Given the description of an element on the screen output the (x, y) to click on. 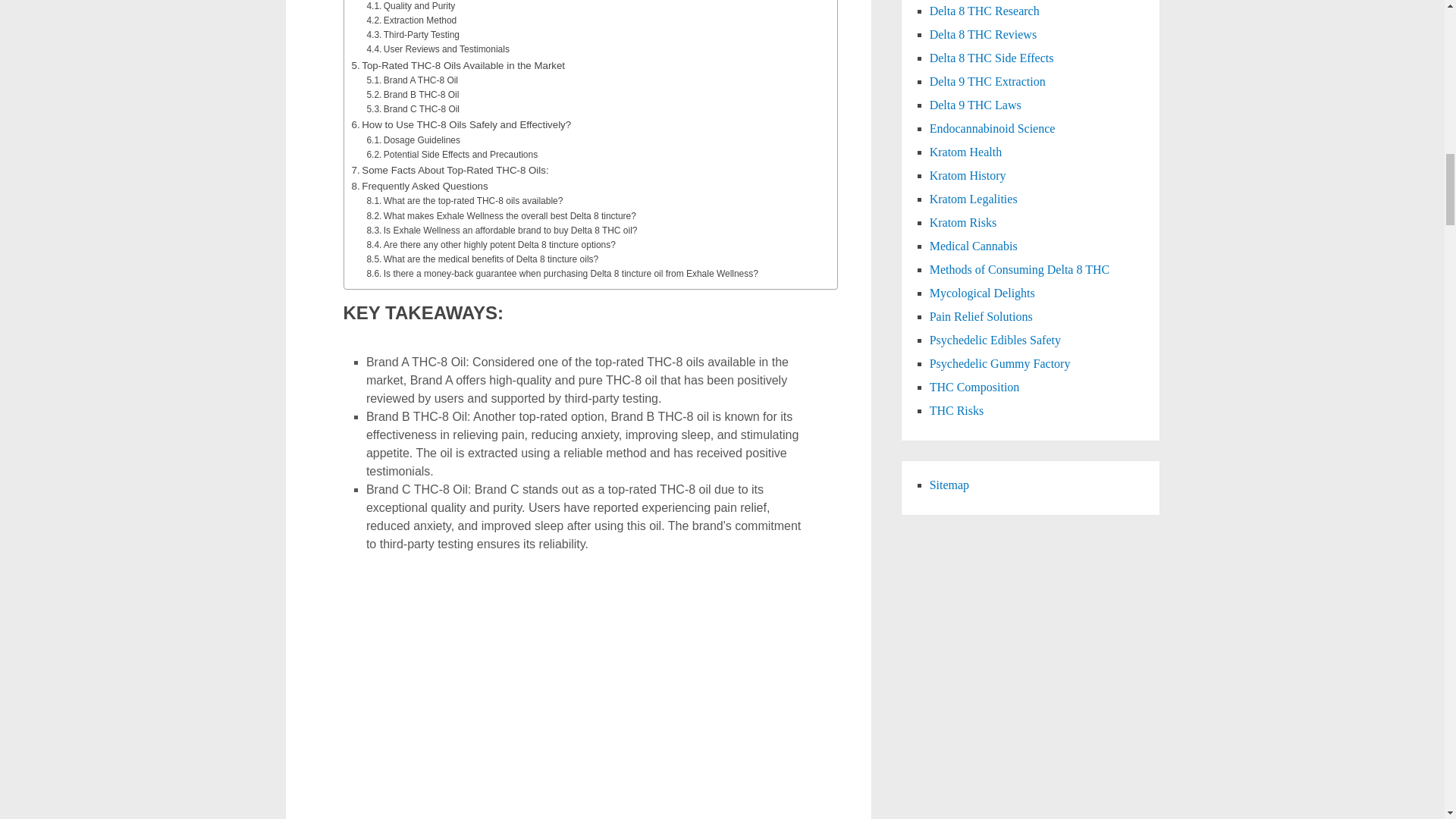
Quality and Purity (410, 6)
Top-Rated THC-8 Oils Available in the Market (459, 65)
What are the top-rated THC-8 oils available? (464, 201)
Extraction Method (411, 20)
Quality and Purity (410, 6)
Brand A THC-8 Oil (412, 80)
Extraction Method (411, 20)
Third-Party Testing (413, 34)
